Given the description of an element on the screen output the (x, y) to click on. 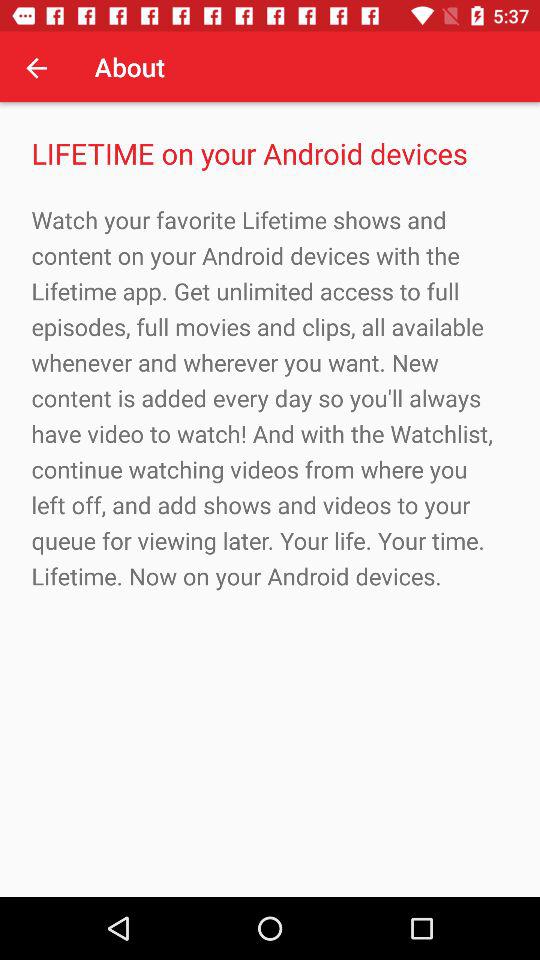
choose item next to the about item (36, 67)
